Given the description of an element on the screen output the (x, y) to click on. 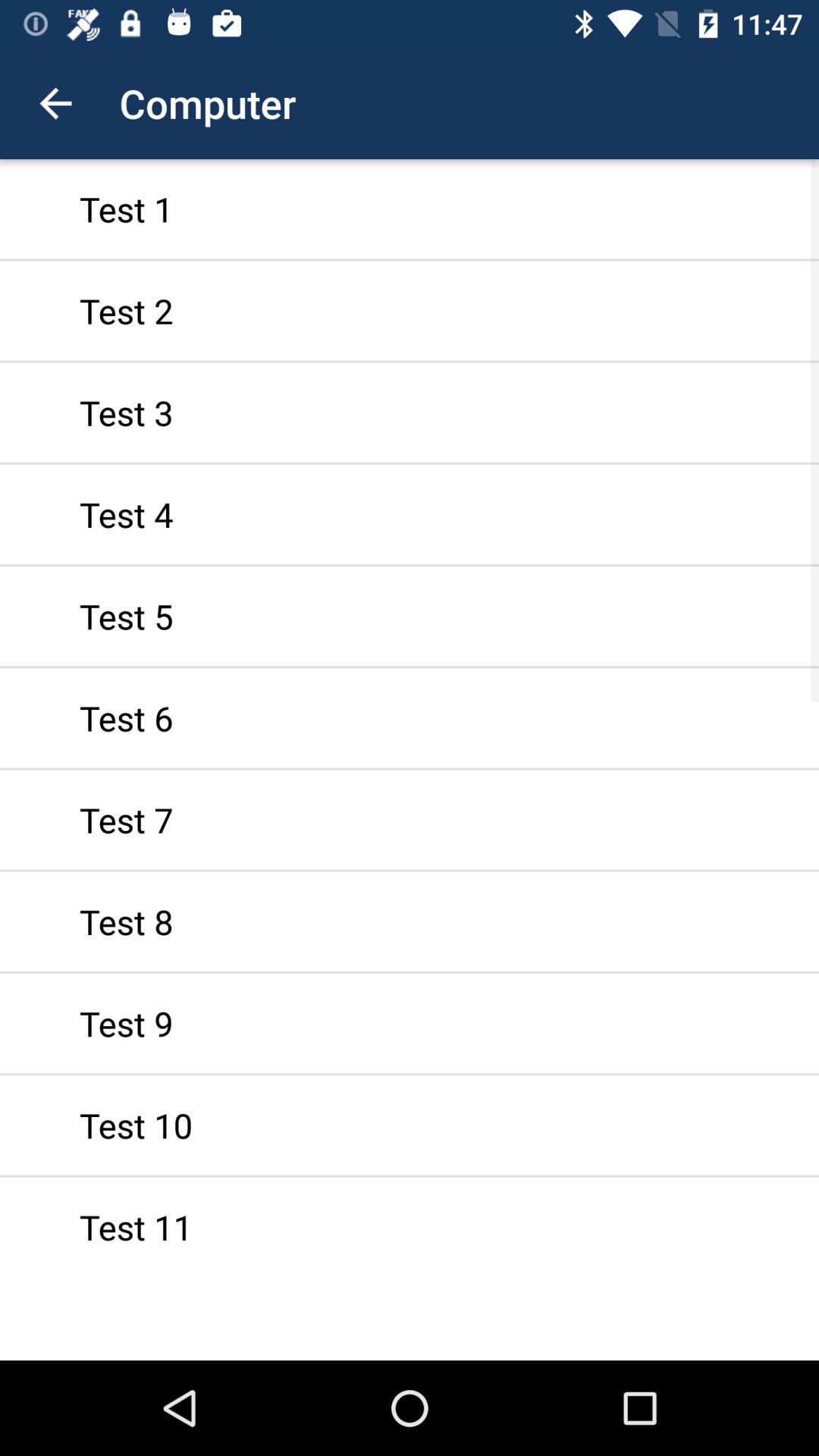
choose test 3 icon (409, 412)
